Given the description of an element on the screen output the (x, y) to click on. 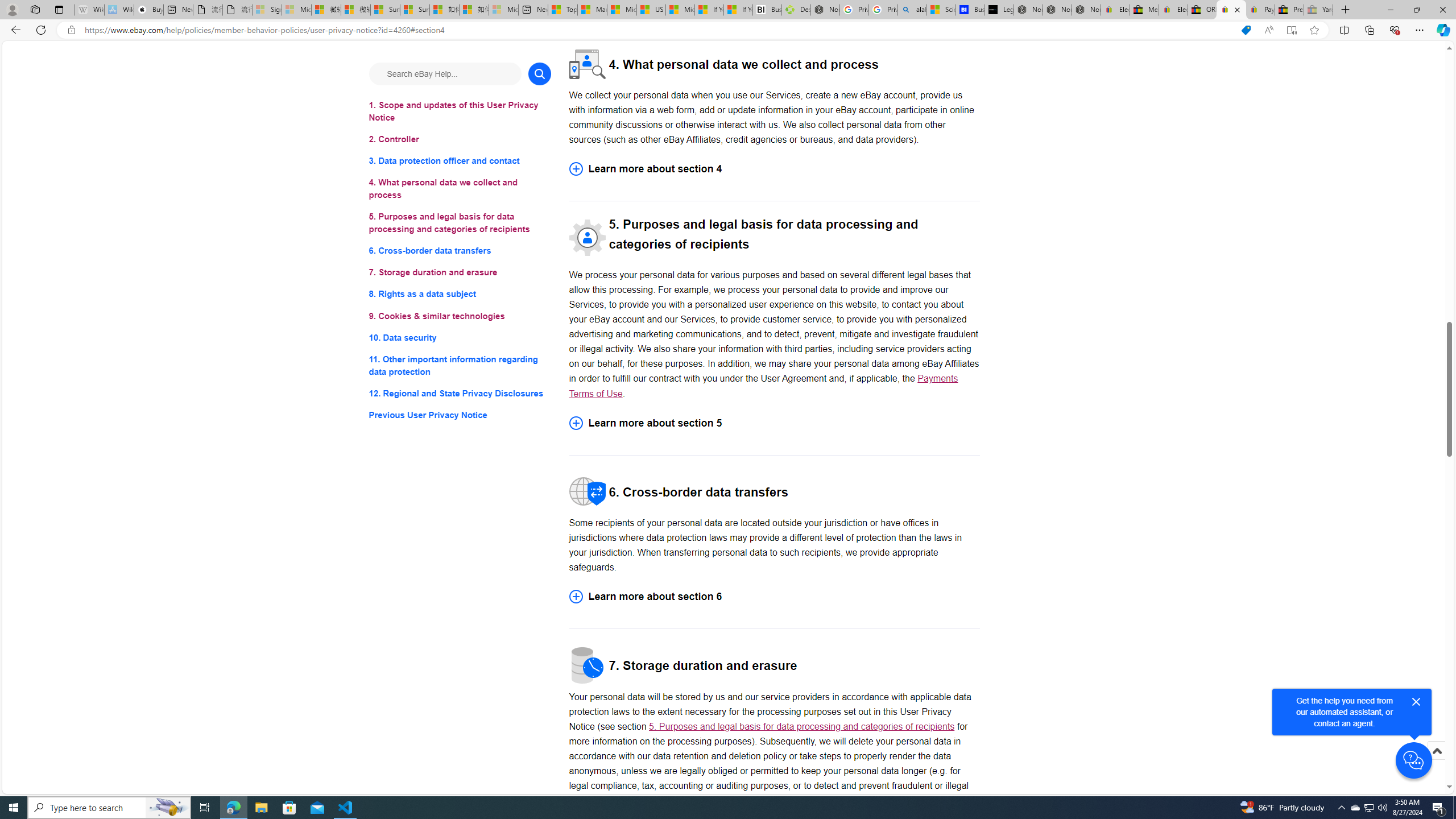
7. Storage duration and erasure (459, 272)
Nordace - My Account (825, 9)
6. Cross-border data transfers (459, 250)
10. Data security (459, 336)
Search eBay Help... (444, 73)
Microsoft Services Agreement - Sleeping (295, 9)
